Given the description of an element on the screen output the (x, y) to click on. 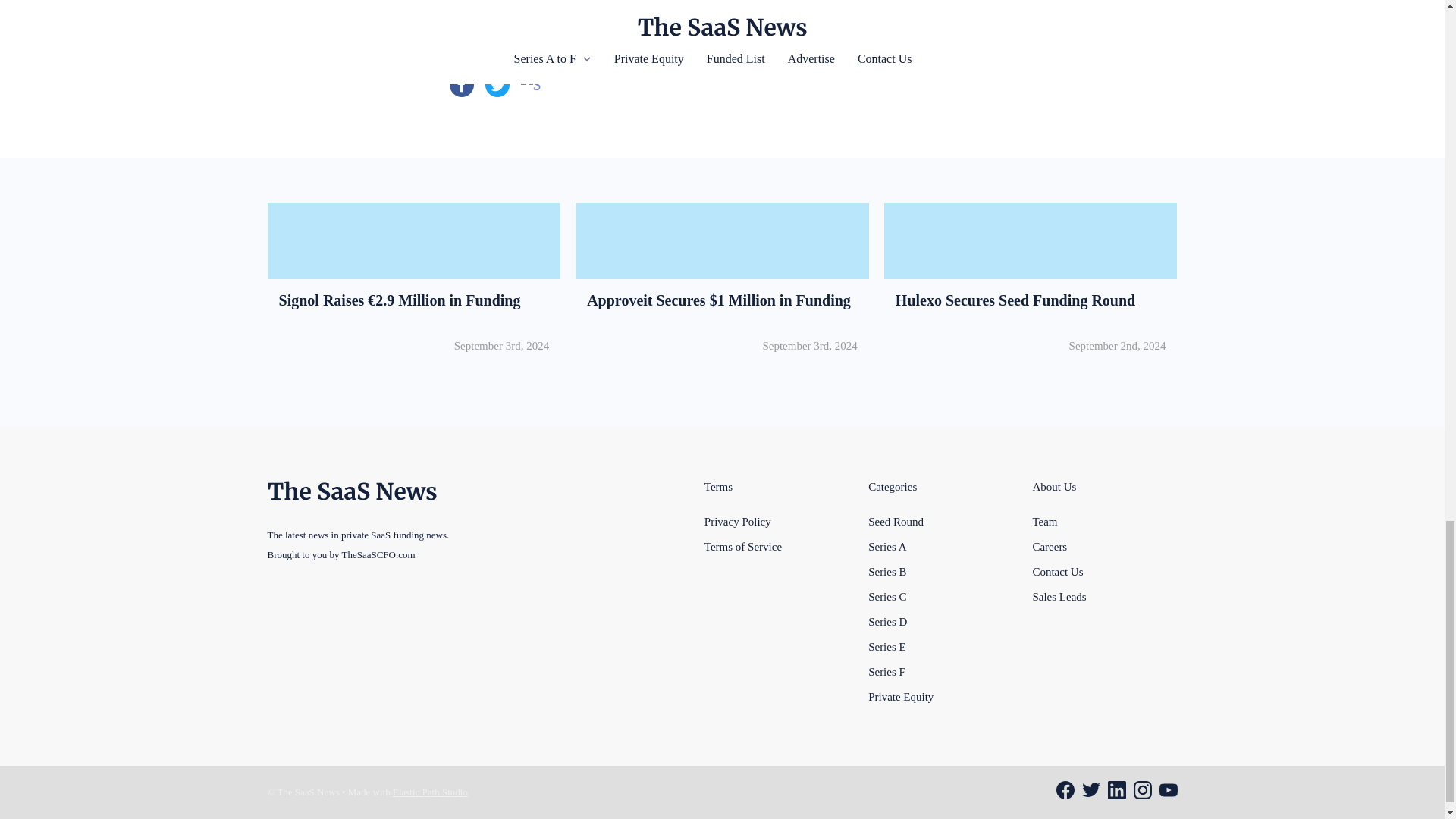
Series E (886, 646)
Careers (1049, 546)
Sales Leads (1059, 596)
Series C (886, 596)
Team (1044, 521)
Seed Round (1030, 284)
Series F (895, 521)
Privacy Policy (886, 671)
Series B (737, 521)
